Given the description of an element on the screen output the (x, y) to click on. 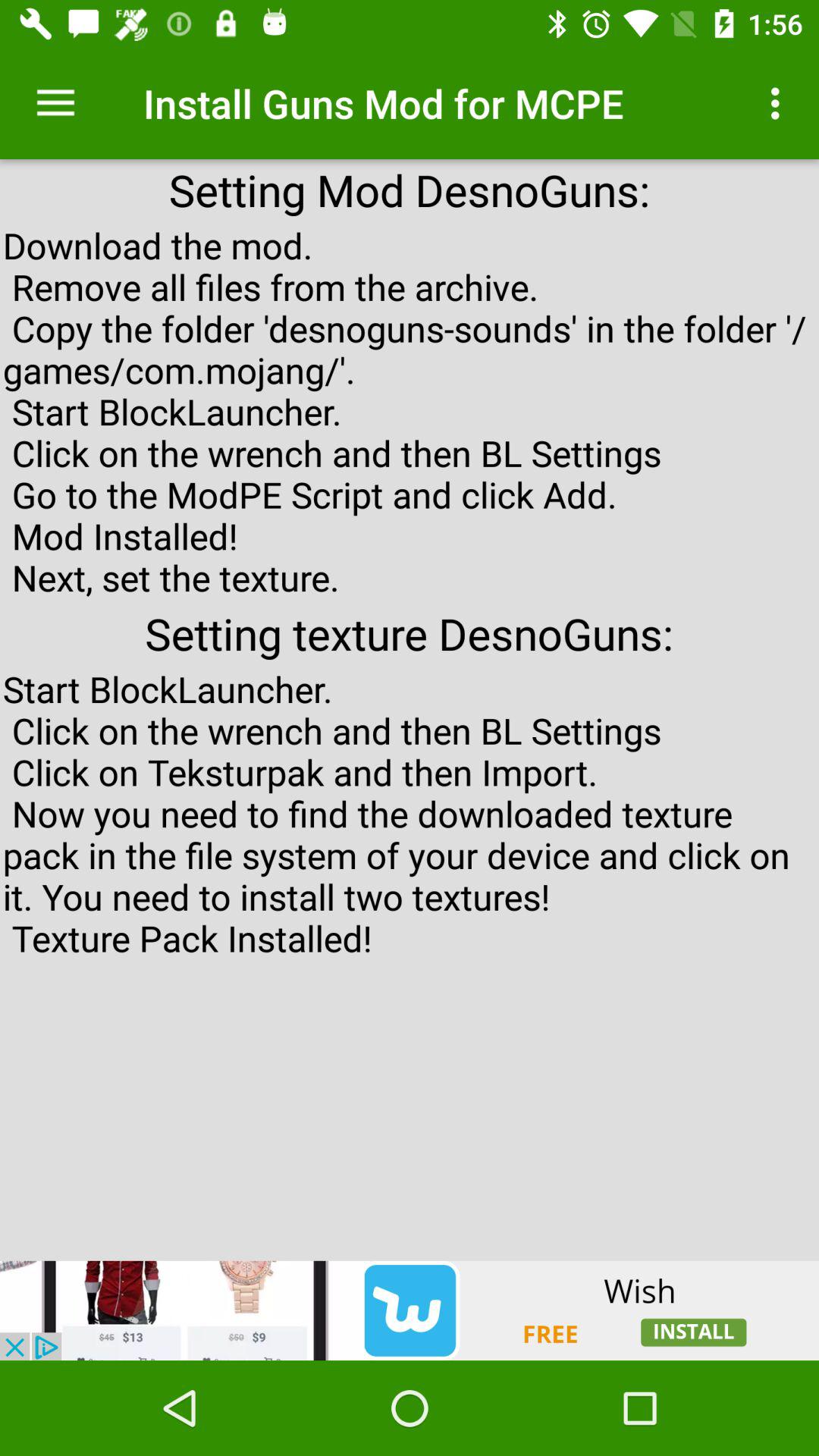
go to advertisements website (409, 1310)
